Given the description of an element on the screen output the (x, y) to click on. 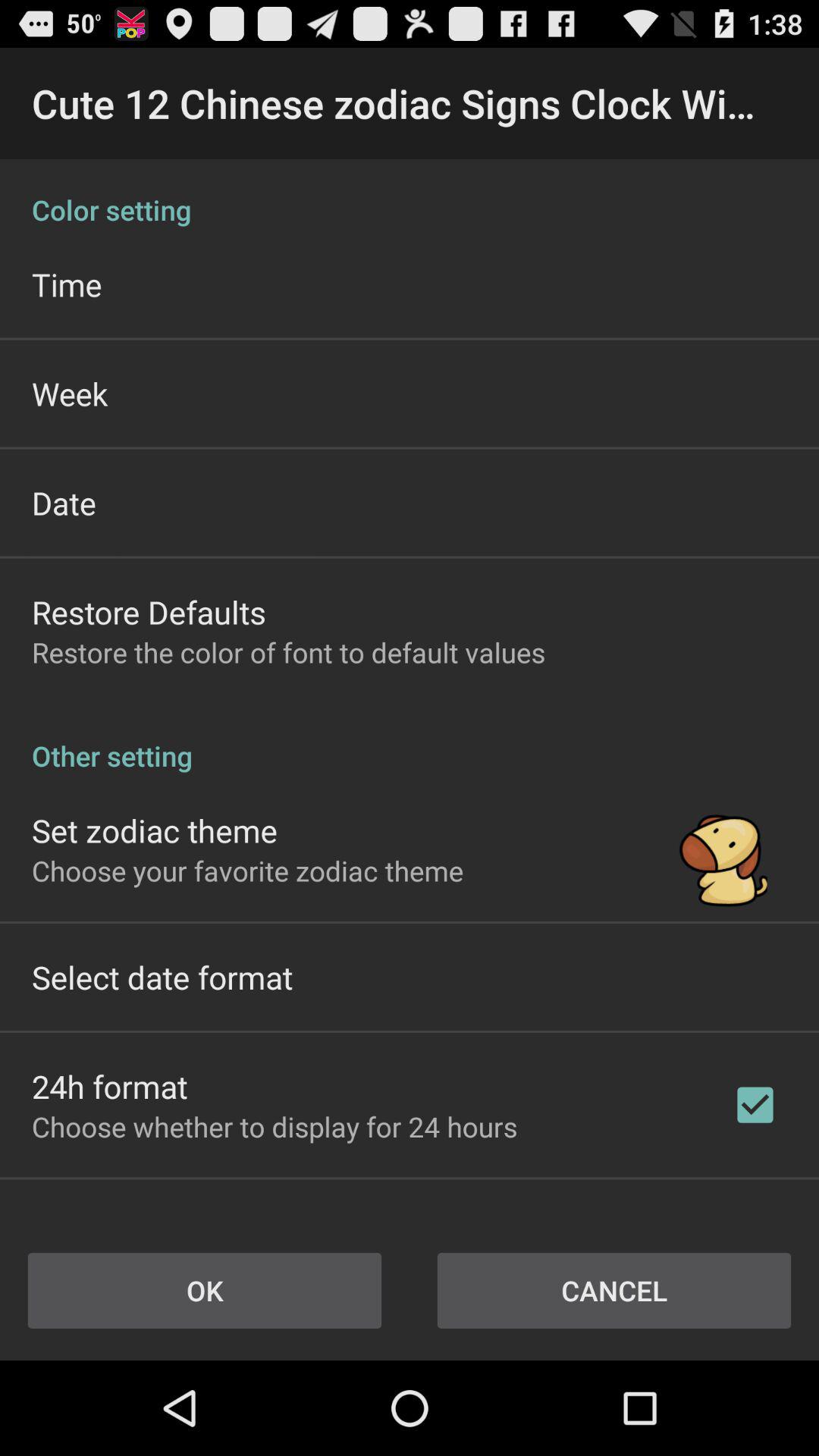
tap the restore the color icon (288, 652)
